Given the description of an element on the screen output the (x, y) to click on. 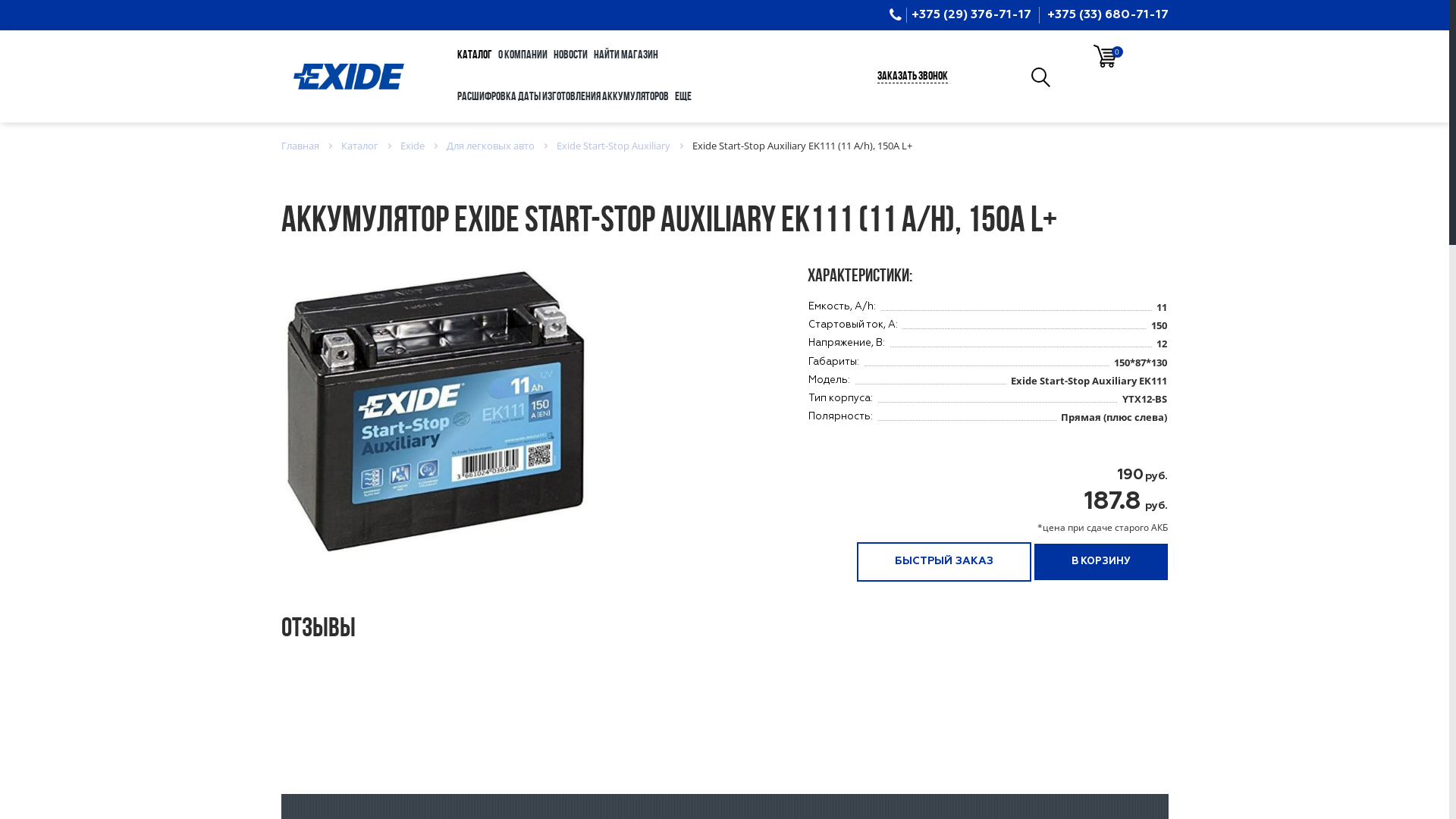
Exide Element type: text (412, 145)
Exide Start-Stop Auxiliary Element type: text (613, 145)
+375 (29) 376-71-17 Element type: text (971, 15)
+375 (33) 680-71-17 Element type: text (1106, 15)
